Given the description of an element on the screen output the (x, y) to click on. 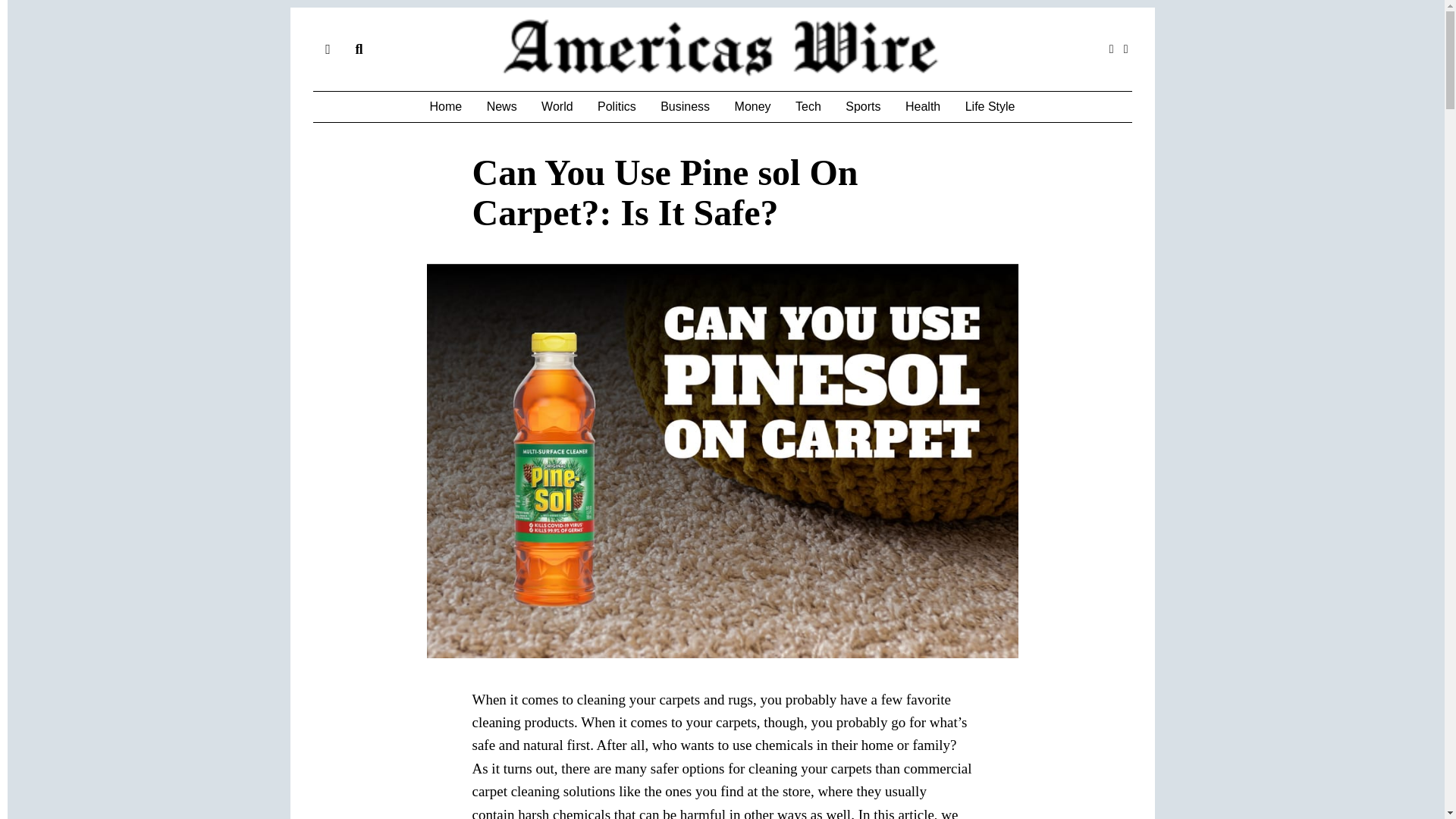
Money (752, 106)
World (557, 106)
Health (922, 106)
Life Style (990, 106)
Sports (862, 106)
Business (684, 106)
Home (445, 106)
News (501, 106)
Tech (807, 106)
Politics (616, 106)
